Given the description of an element on the screen output the (x, y) to click on. 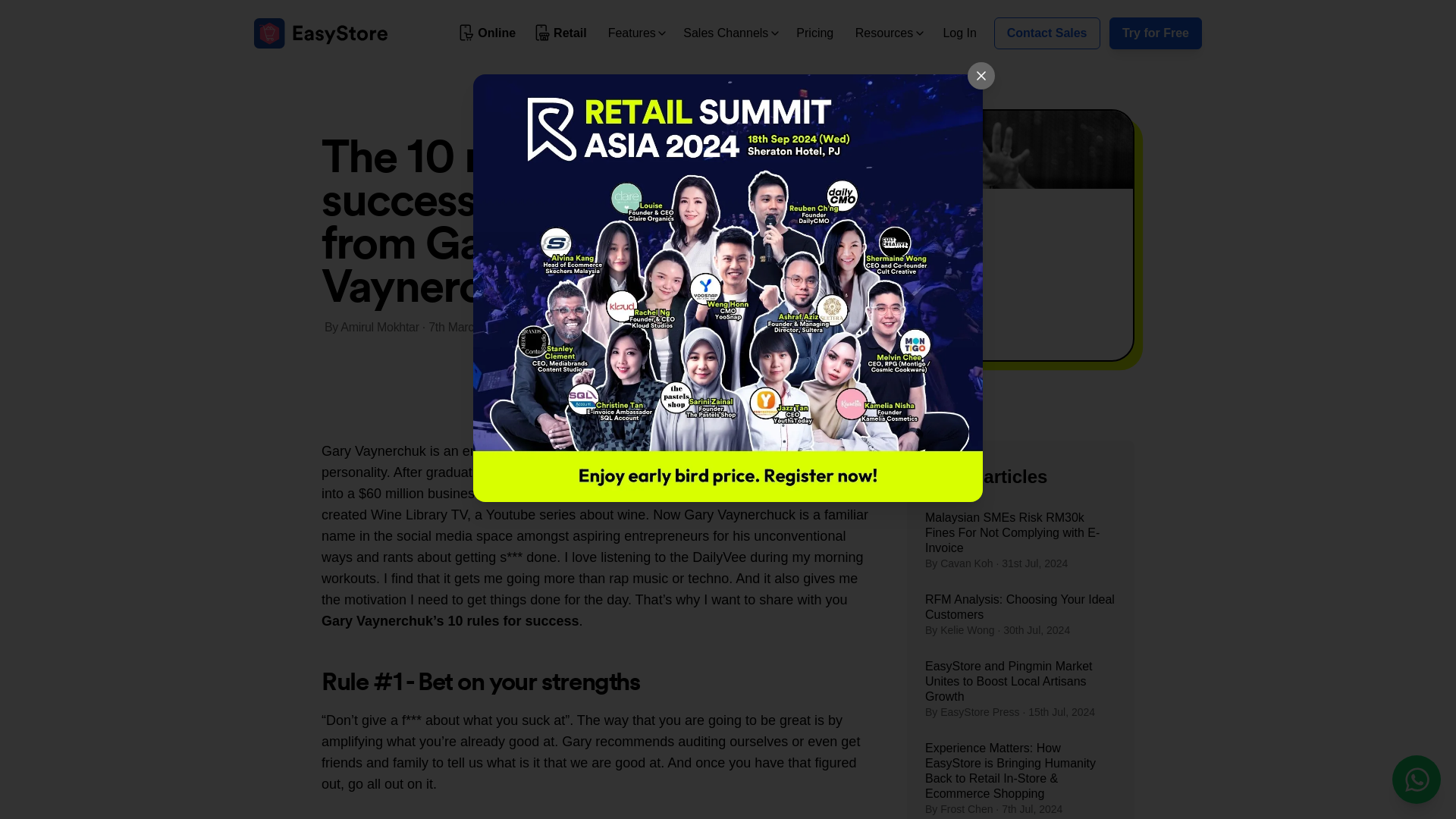
Retail (561, 33)
Contact Sales (1047, 33)
Log In (958, 32)
Try for Free (1155, 33)
Pricing (814, 32)
Online (488, 33)
